Given the description of an element on the screen output the (x, y) to click on. 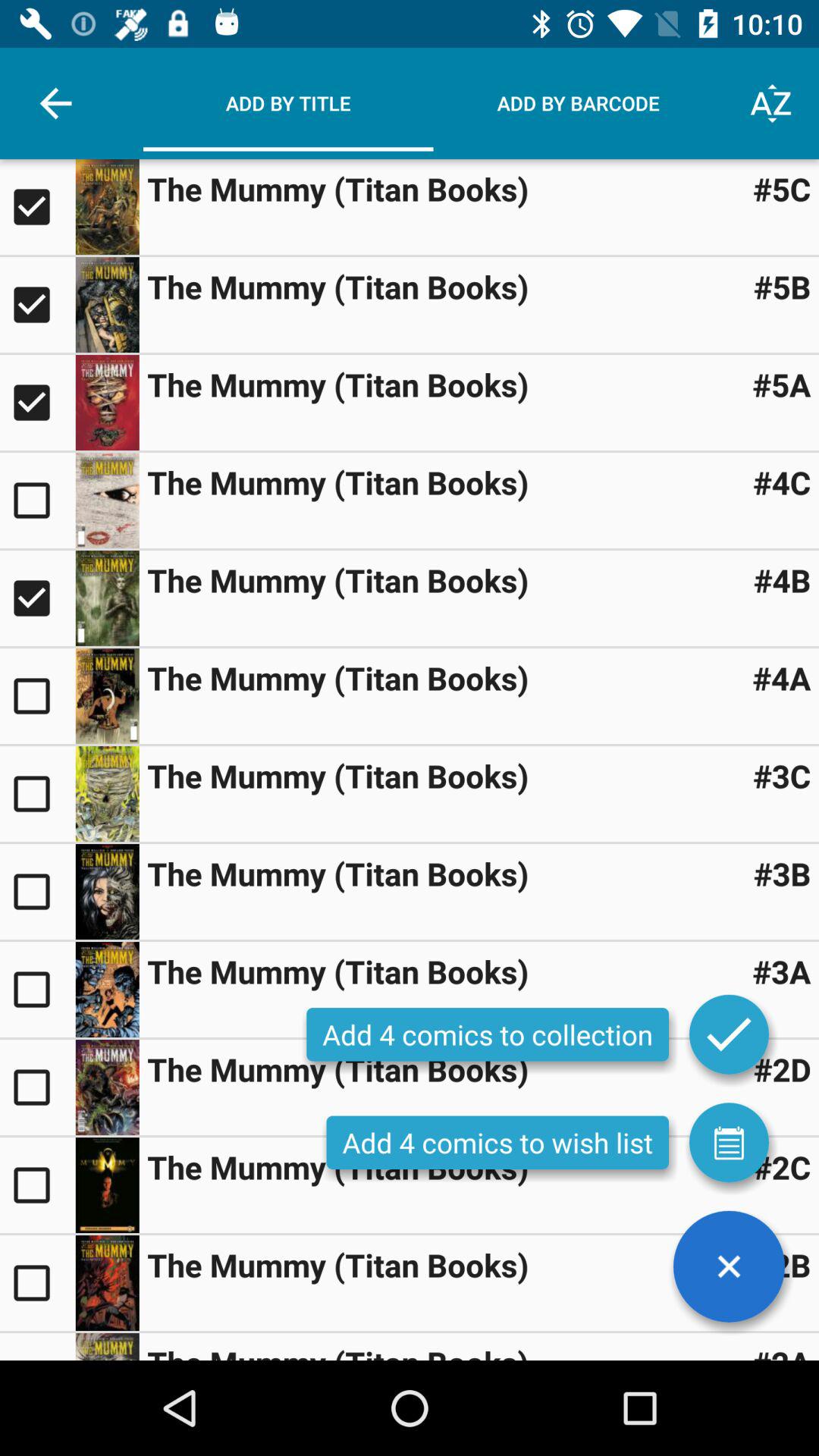
select option (37, 1282)
